Given the description of an element on the screen output the (x, y) to click on. 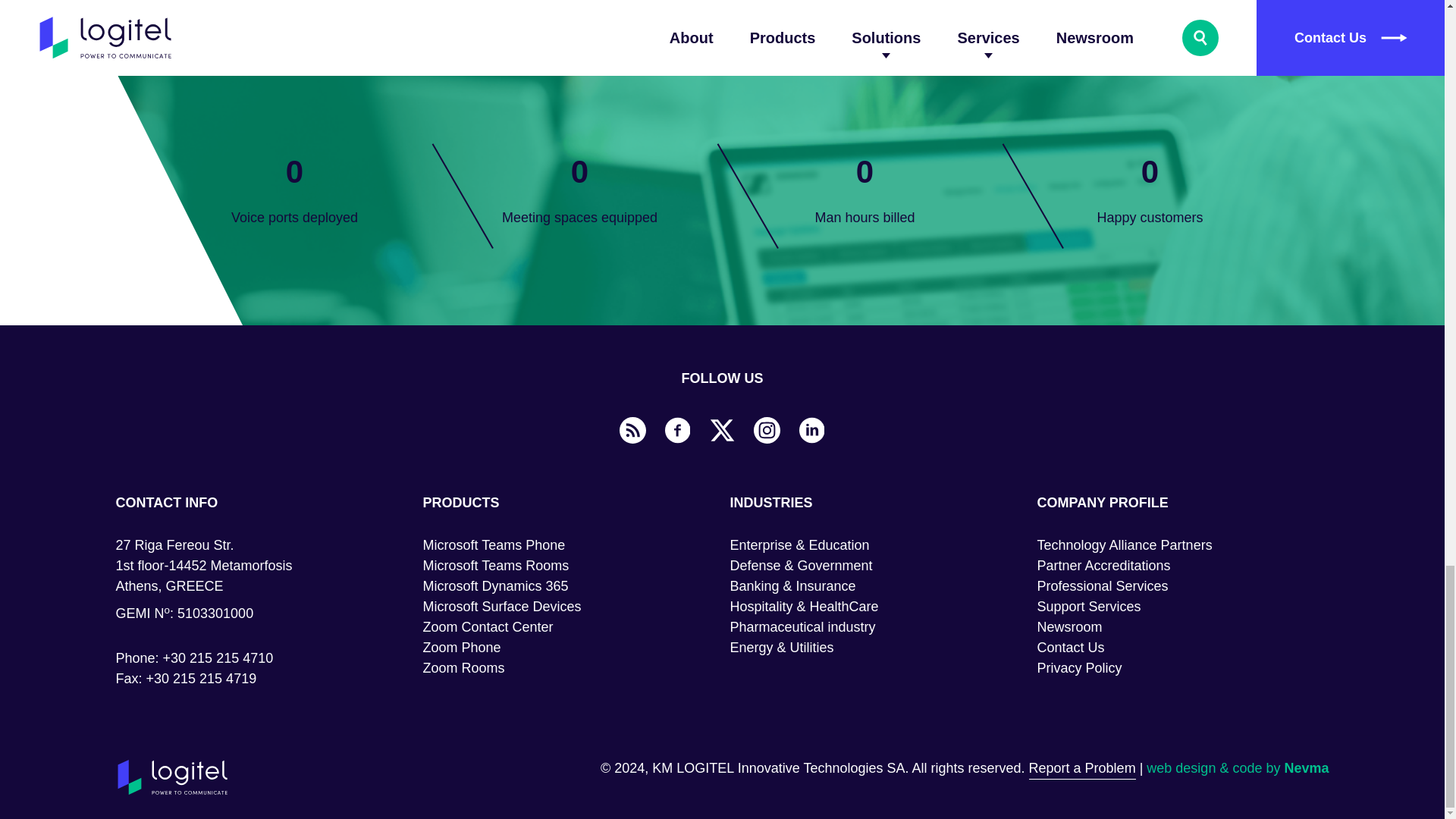
Facebook page (676, 430)
Instagram page (767, 430)
logitel-logo-2023-white (171, 777)
LinkedIn page (812, 430)
Twitter page (722, 430)
Rss page (633, 430)
